Given the description of an element on the screen output the (x, y) to click on. 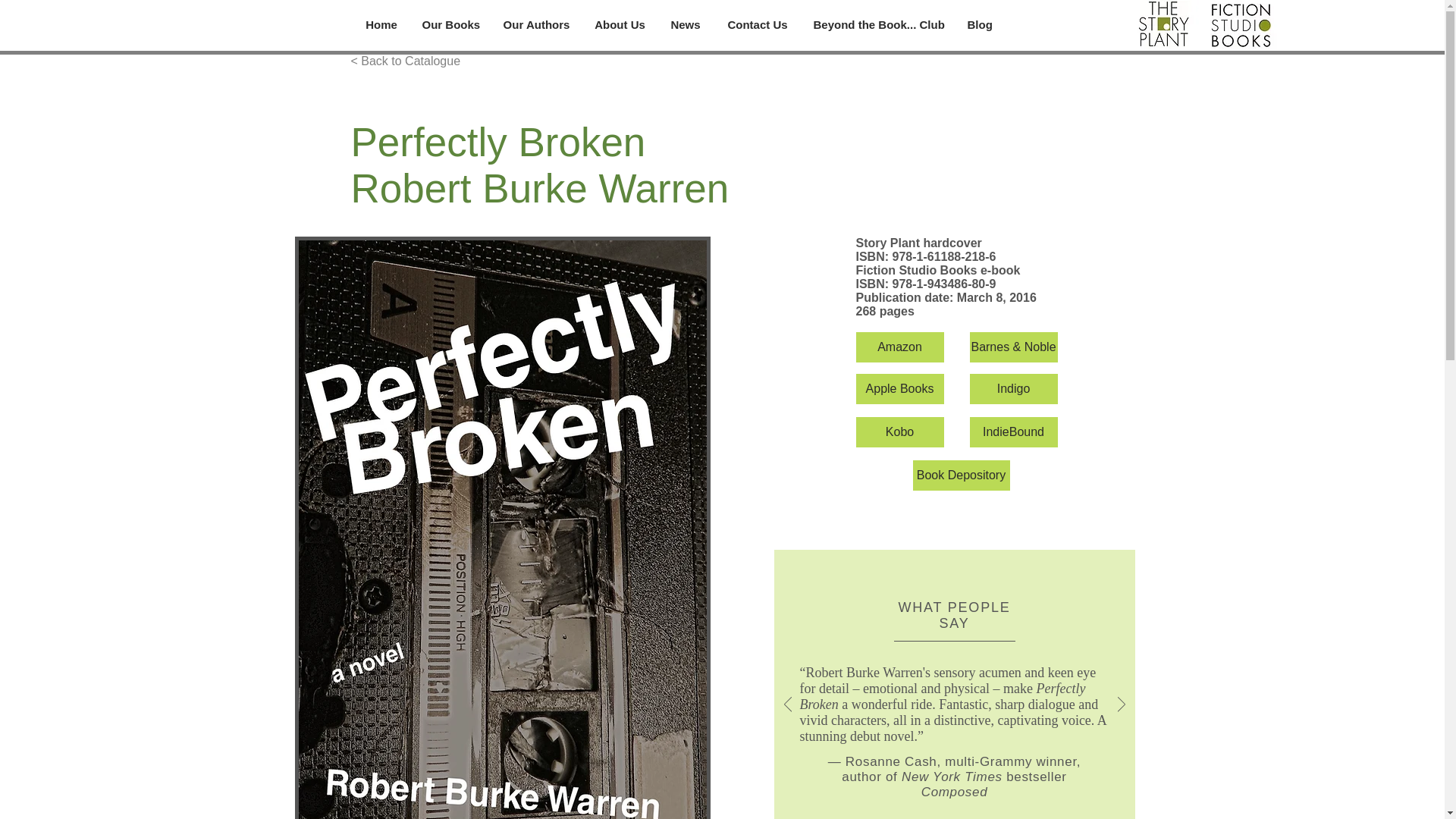
Apple Books (899, 388)
News (685, 24)
Our Authors (537, 24)
Our Books (451, 24)
Indigo (1013, 388)
About Us (620, 24)
Contact Us (757, 24)
Book Depository (961, 475)
Home (381, 24)
Amazon (899, 347)
Beyond the Book... Club (879, 24)
IndieBound (1013, 431)
Kobo (899, 431)
Blog (979, 24)
